Given the description of an element on the screen output the (x, y) to click on. 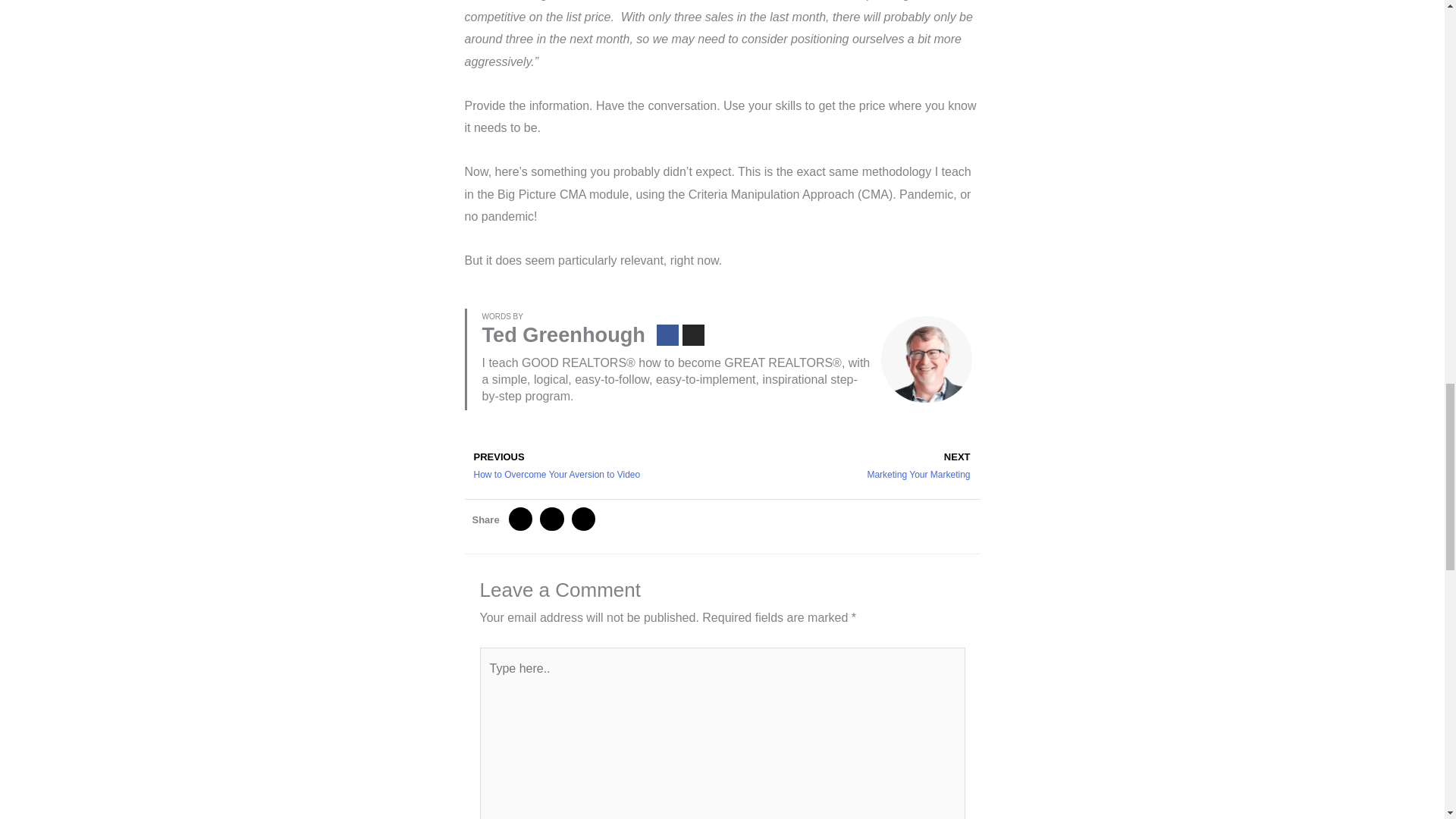
Instagram (850, 465)
Facebook (693, 335)
